Given the description of an element on the screen output the (x, y) to click on. 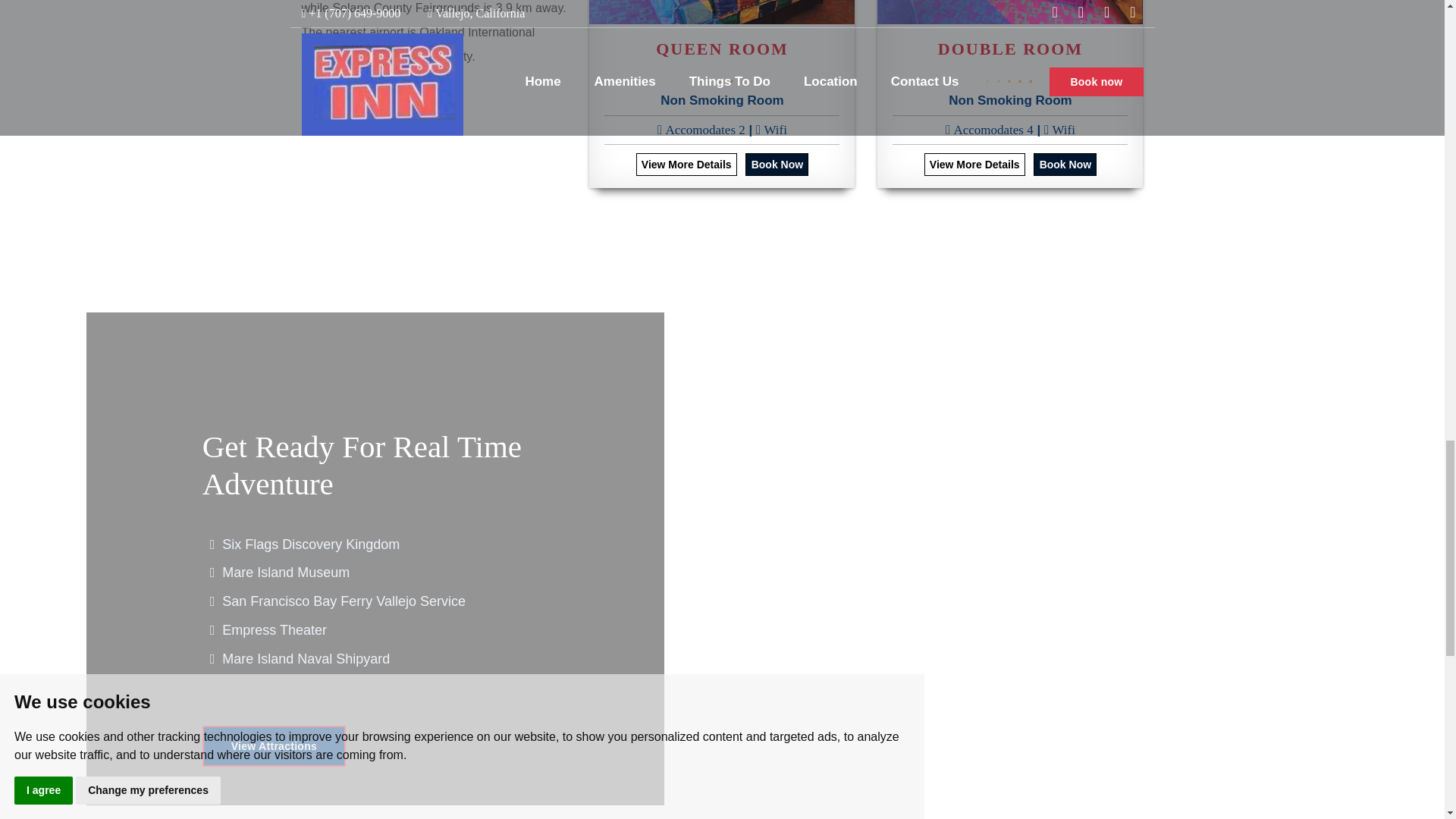
View More Details (974, 164)
Book Now (1064, 164)
DISCOVER ROOMS (377, 115)
View Attractions (274, 745)
View More Details (686, 164)
Book Now (776, 164)
